Given the description of an element on the screen output the (x, y) to click on. 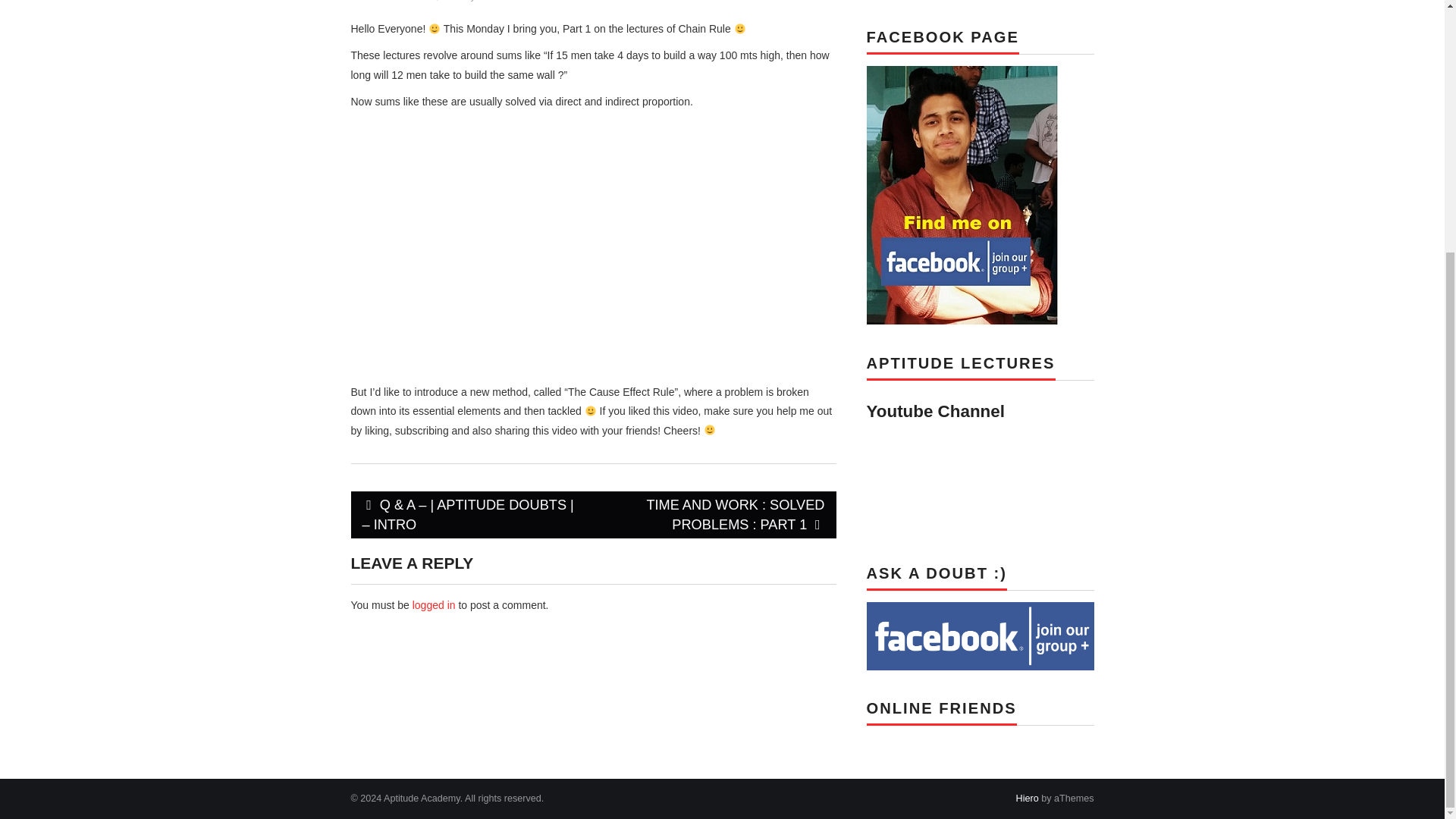
Daniel Dsouza (509, 0)
Hiero (1027, 798)
View all posts by Daniel Dsouza (509, 0)
March 21, 2016 (429, 0)
logged in (433, 604)
TIME AND WORK : SOLVED PROBLEMS : PART 1 (713, 514)
4:07 pm (429, 0)
